Given the description of an element on the screen output the (x, y) to click on. 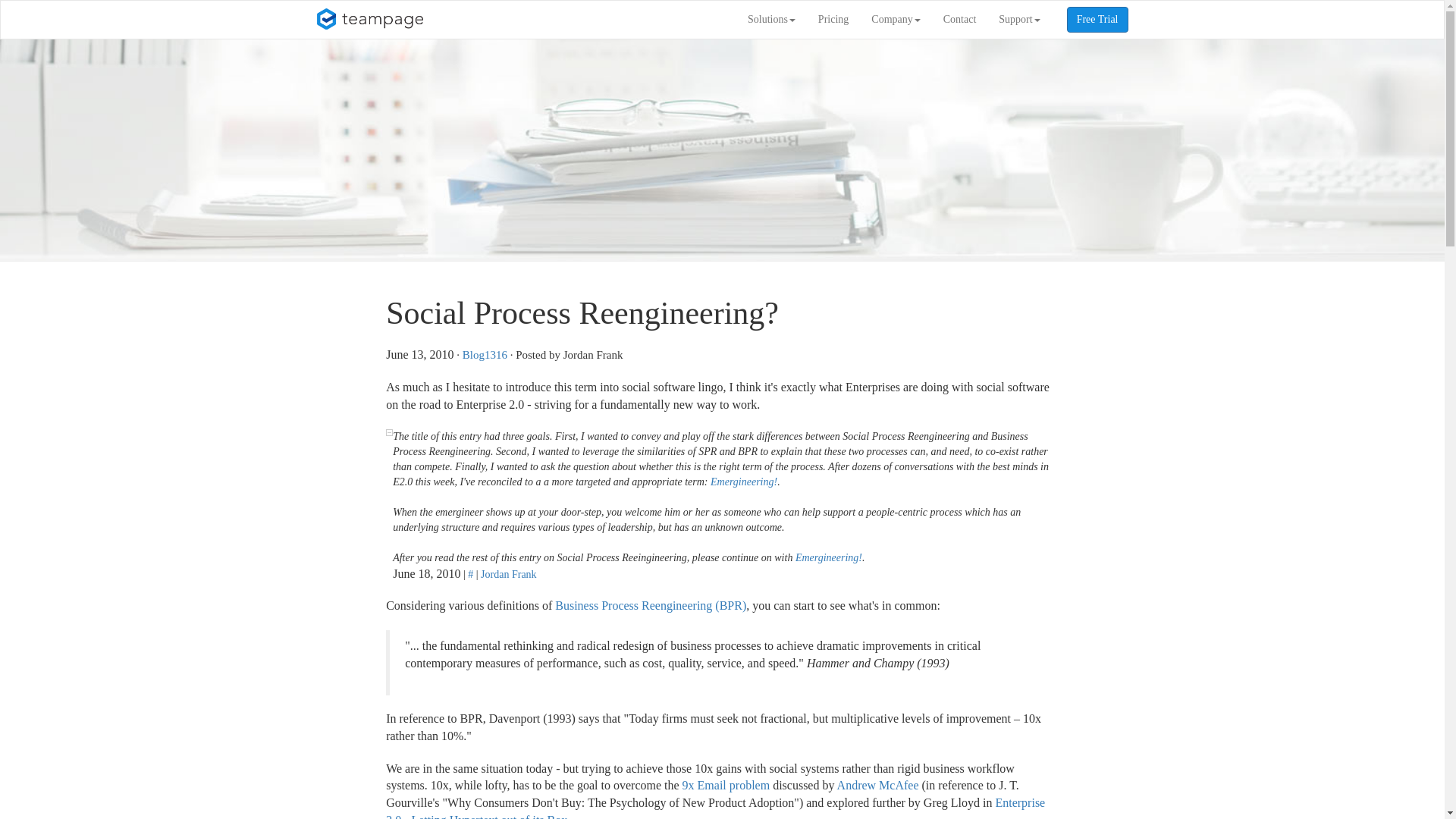
Free Trial (1097, 19)
Pricing (833, 19)
Company (895, 19)
Support (1019, 19)
Solutions (771, 19)
Contact (959, 19)
Collapse Comments (389, 432)
